Given the description of an element on the screen output the (x, y) to click on. 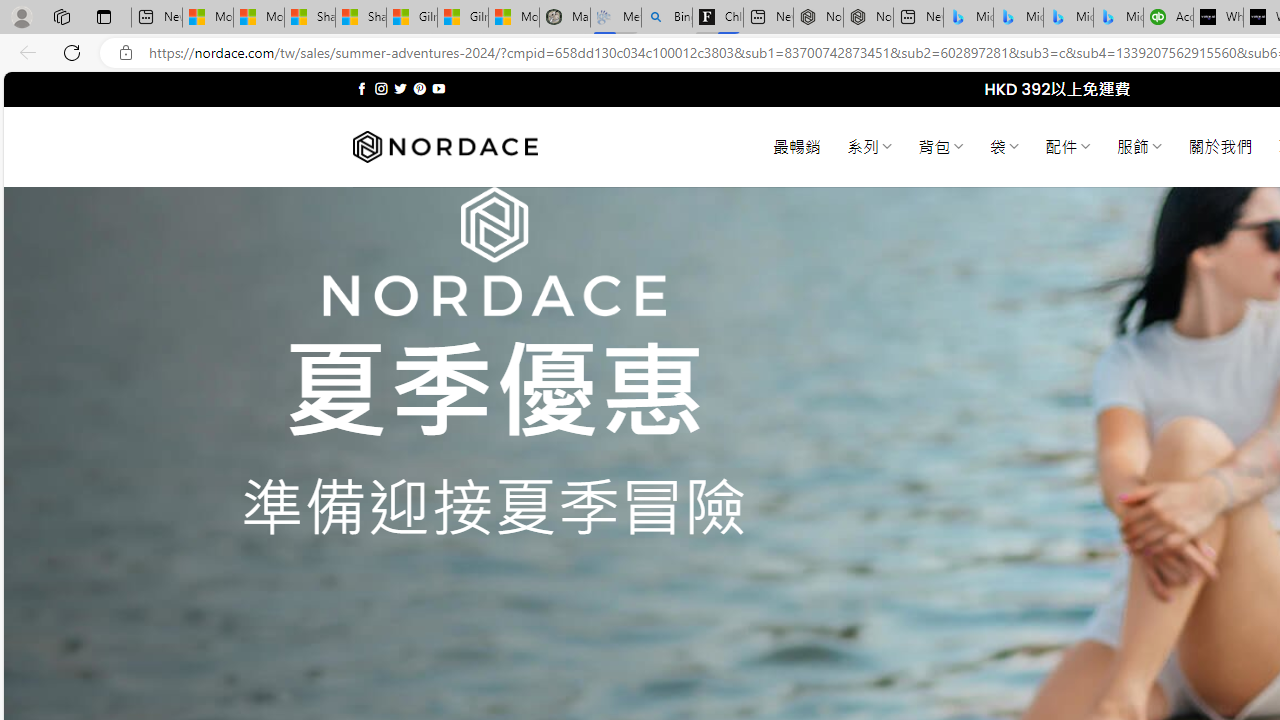
Tab actions menu (104, 16)
Nordace (444, 147)
Microsoft Bing Travel - Stays in Bangkok, Bangkok, Thailand (1018, 17)
What's the best AI voice generator? - voice.ai (1218, 17)
Shanghai, China weather forecast | Microsoft Weather (360, 17)
Refresh (72, 52)
New tab (918, 17)
